Given the description of an element on the screen output the (x, y) to click on. 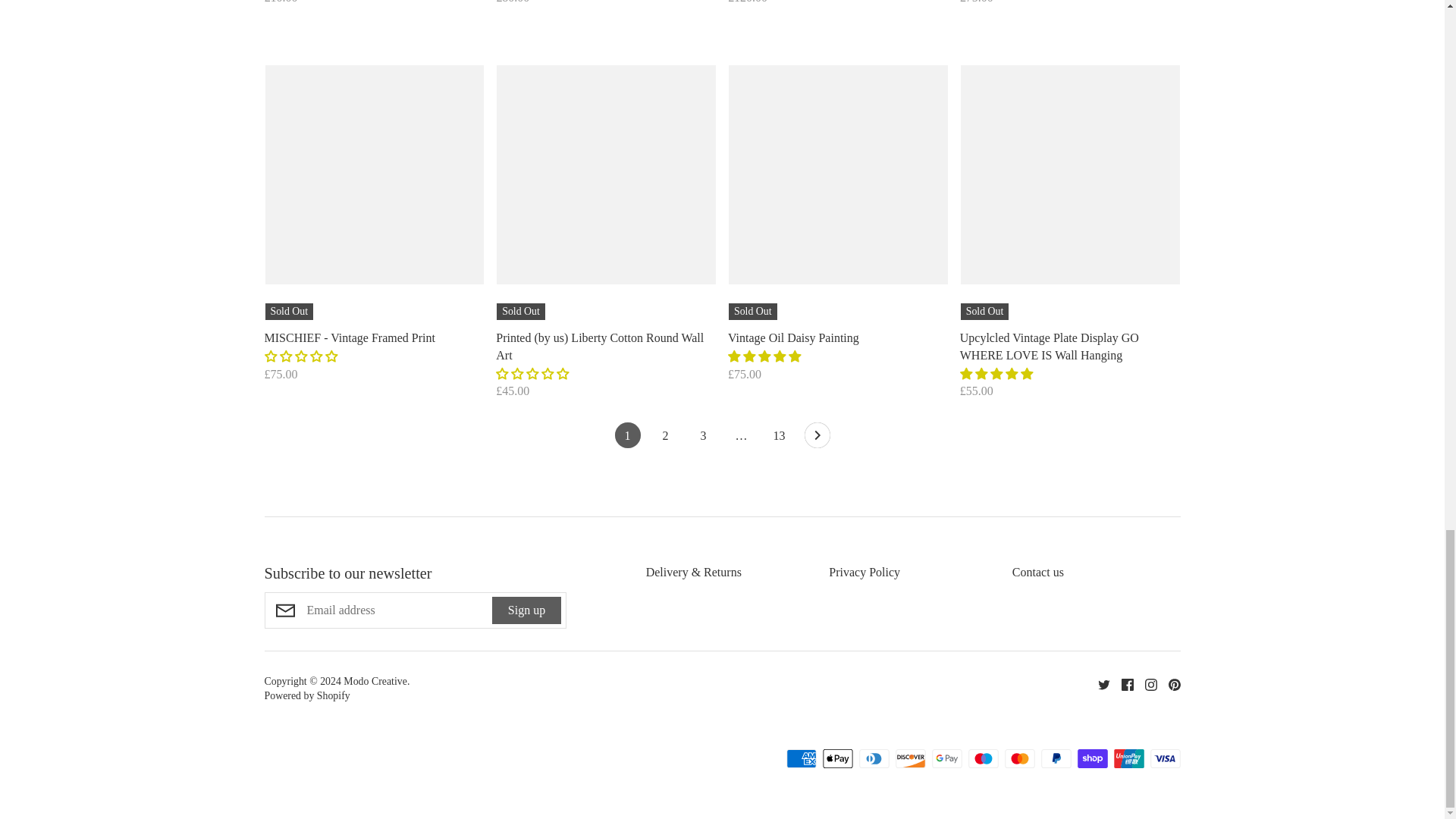
Pinterest (1168, 683)
Google Pay (945, 758)
13 (778, 438)
Facebook (1121, 683)
Discover (909, 758)
Instagram (1144, 683)
Diners Club (873, 758)
2 (665, 438)
Maestro (982, 758)
3 (703, 438)
Shop Pay (1091, 758)
Twitter (1097, 683)
Mastercard (1018, 758)
Union Pay (1127, 758)
American Express (800, 758)
